Given the description of an element on the screen output the (x, y) to click on. 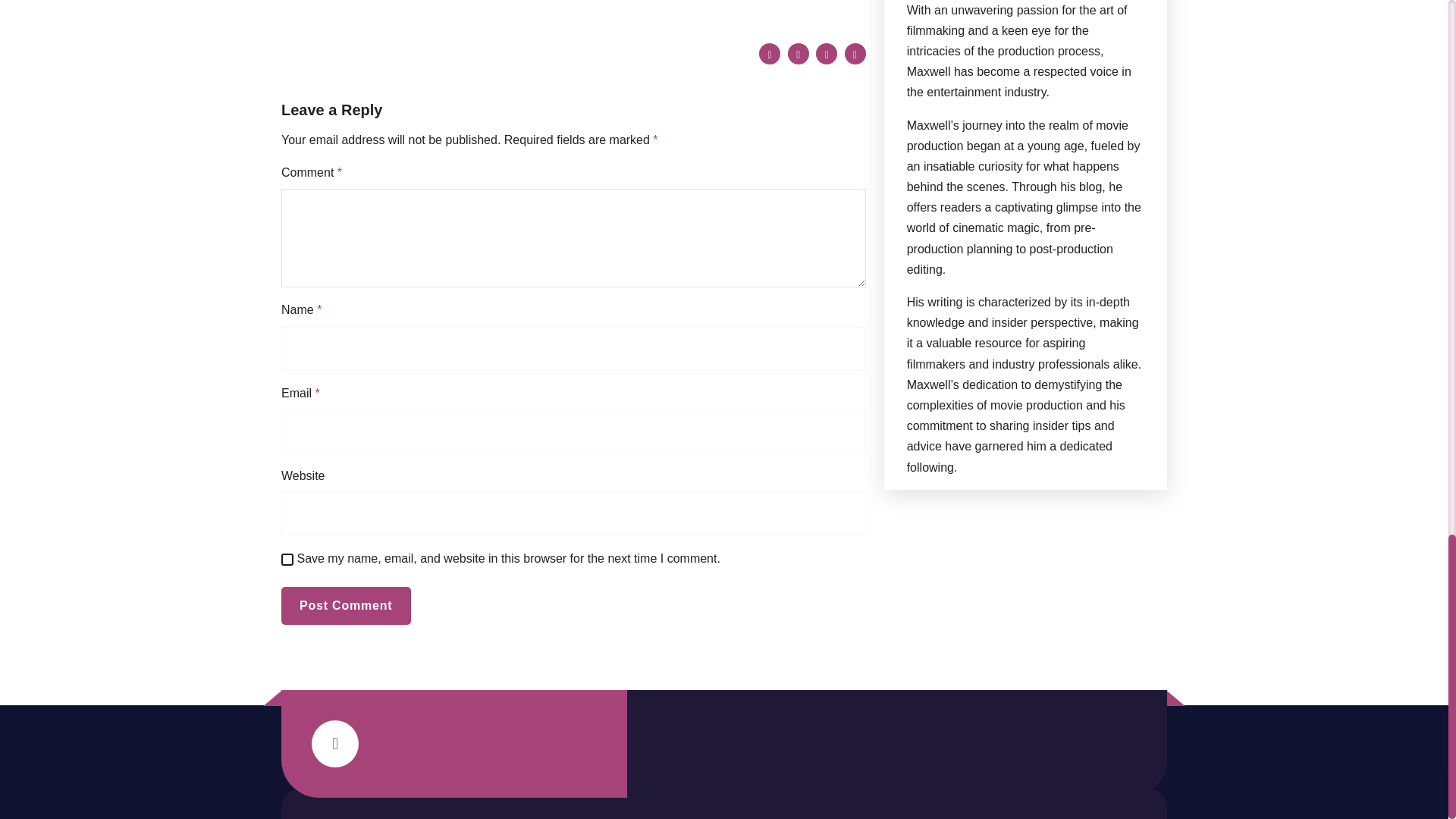
Post Comment (345, 605)
yes (287, 559)
Post Comment (345, 605)
